Given the description of an element on the screen output the (x, y) to click on. 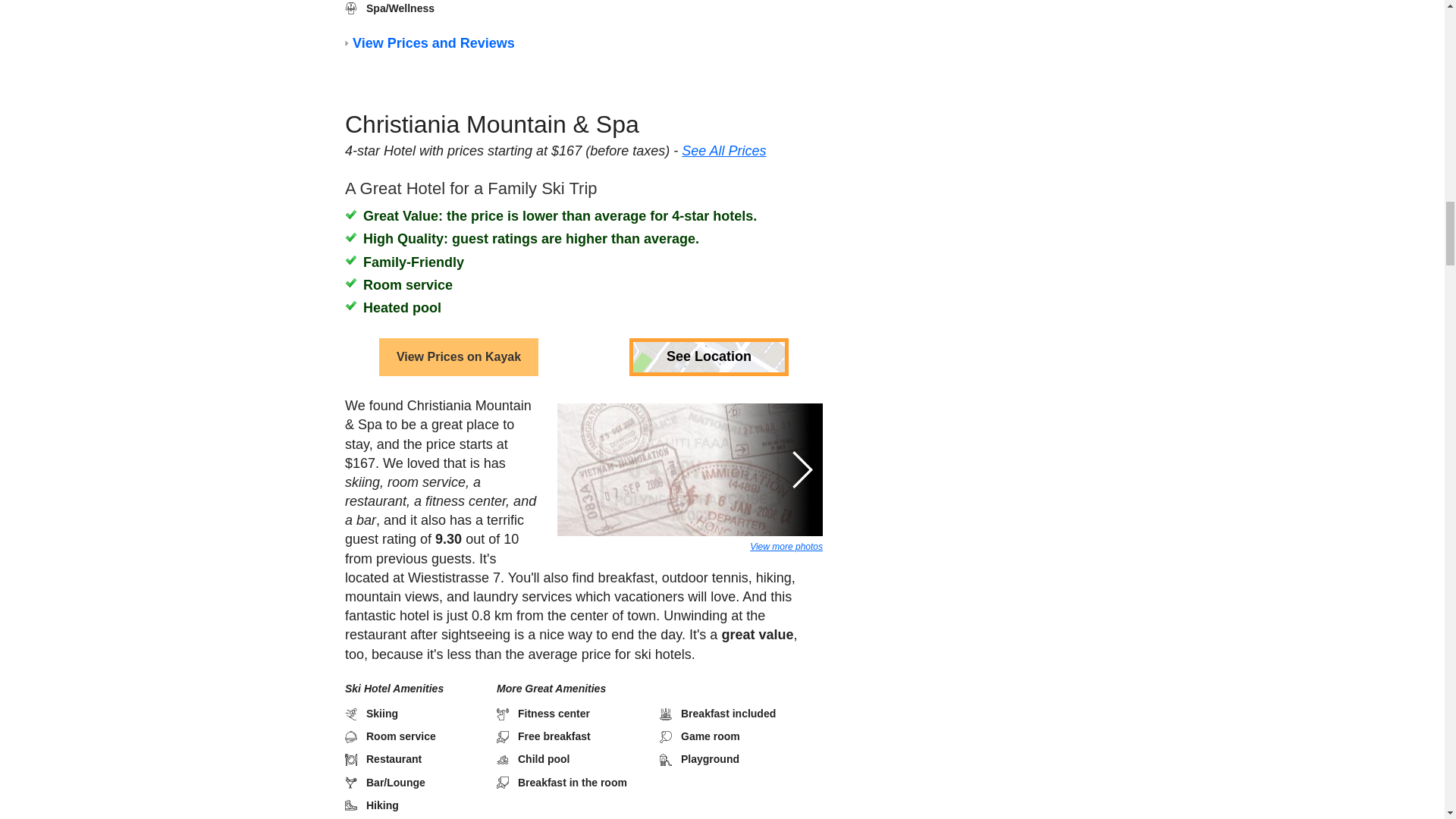
See All Prices (723, 115)
View Prices on Kayak (458, 303)
See Location (708, 303)
View Prices and Reviews (432, 36)
View more photos (785, 493)
